Given the description of an element on the screen output the (x, y) to click on. 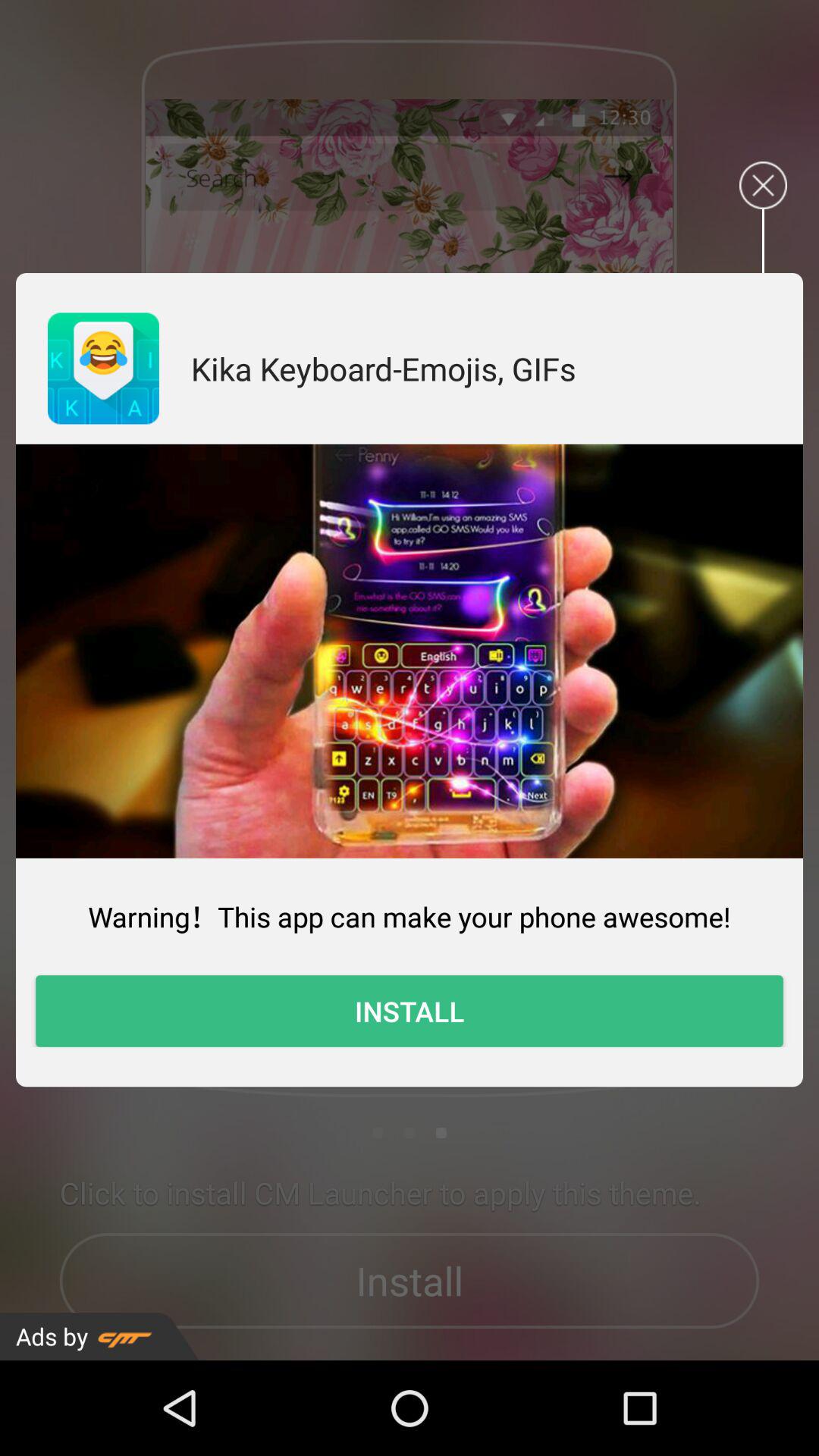
close the advertisements (763, 185)
